Given the description of an element on the screen output the (x, y) to click on. 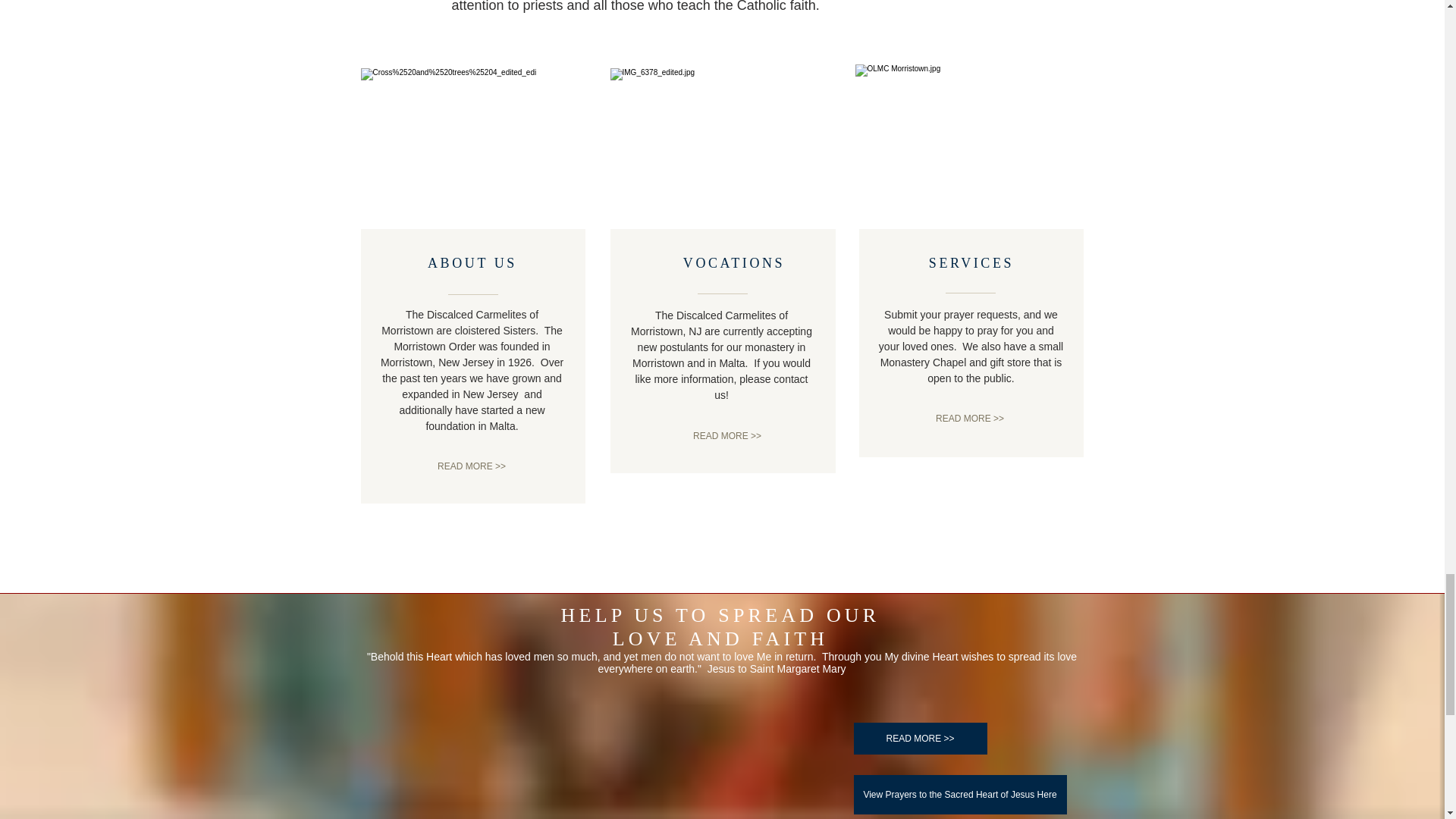
View Prayers to the Sacred Heart of Jesus Here (960, 794)
